Given the description of an element on the screen output the (x, y) to click on. 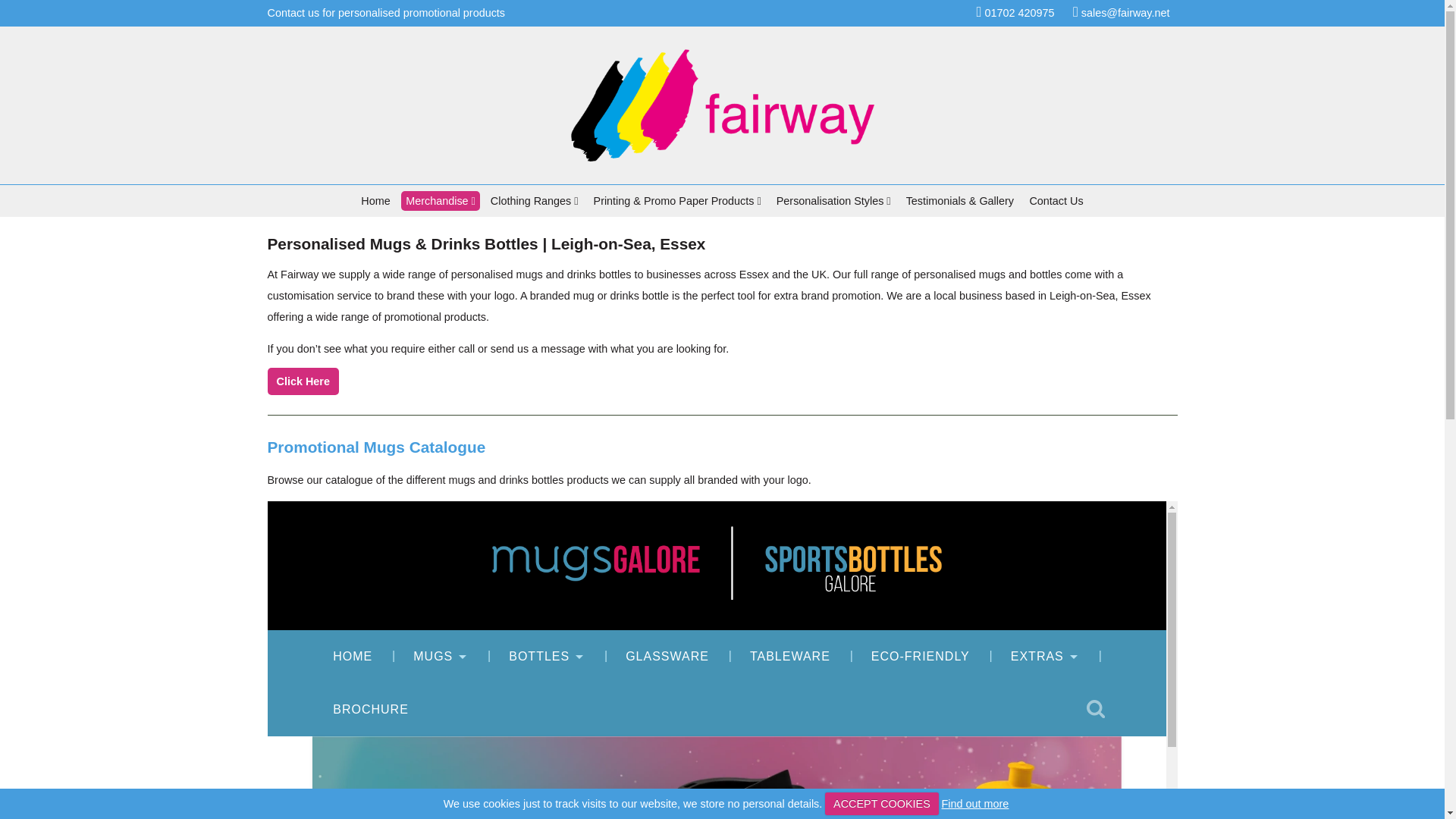
Merchandise (440, 200)
Contact us for personalised promotional products (385, 12)
Personalisation Styles (833, 200)
Clothing Ranges (534, 200)
Home (375, 200)
